Given the description of an element on the screen output the (x, y) to click on. 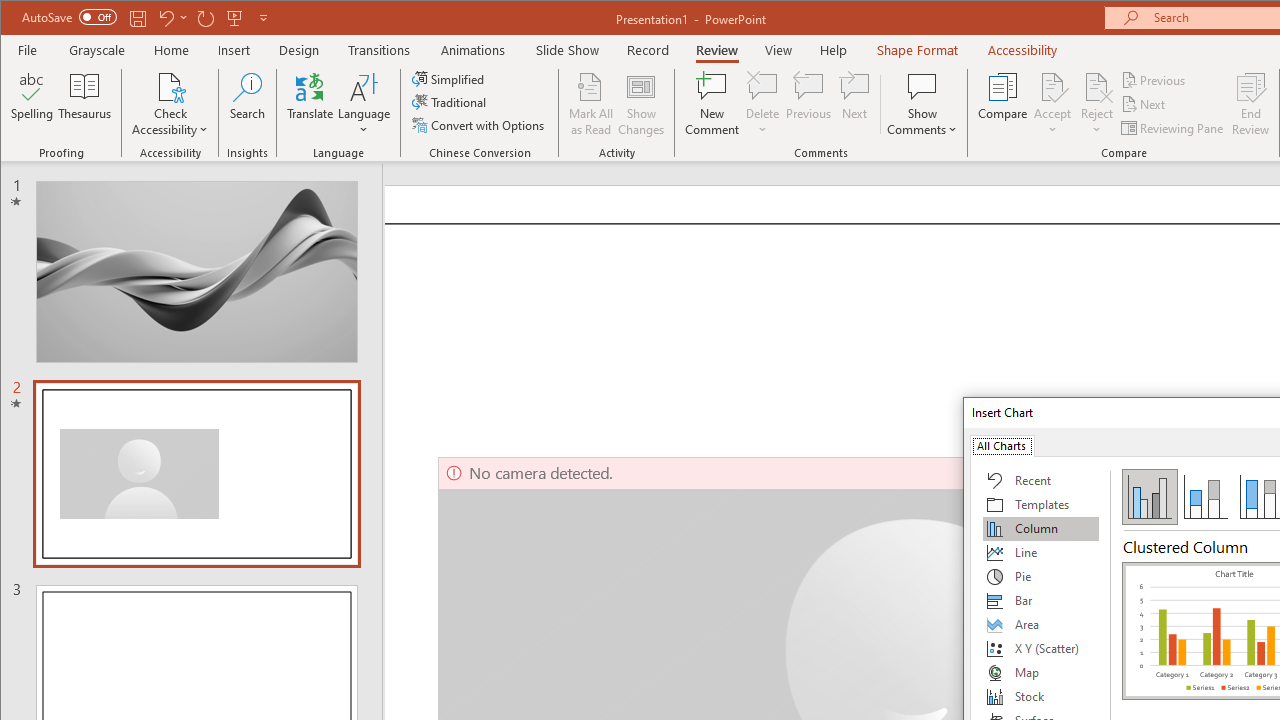
Map (1041, 672)
Convert with Options... (479, 124)
Reviewing Pane (1173, 127)
All Charts (1001, 444)
Traditional (450, 101)
